Given the description of an element on the screen output the (x, y) to click on. 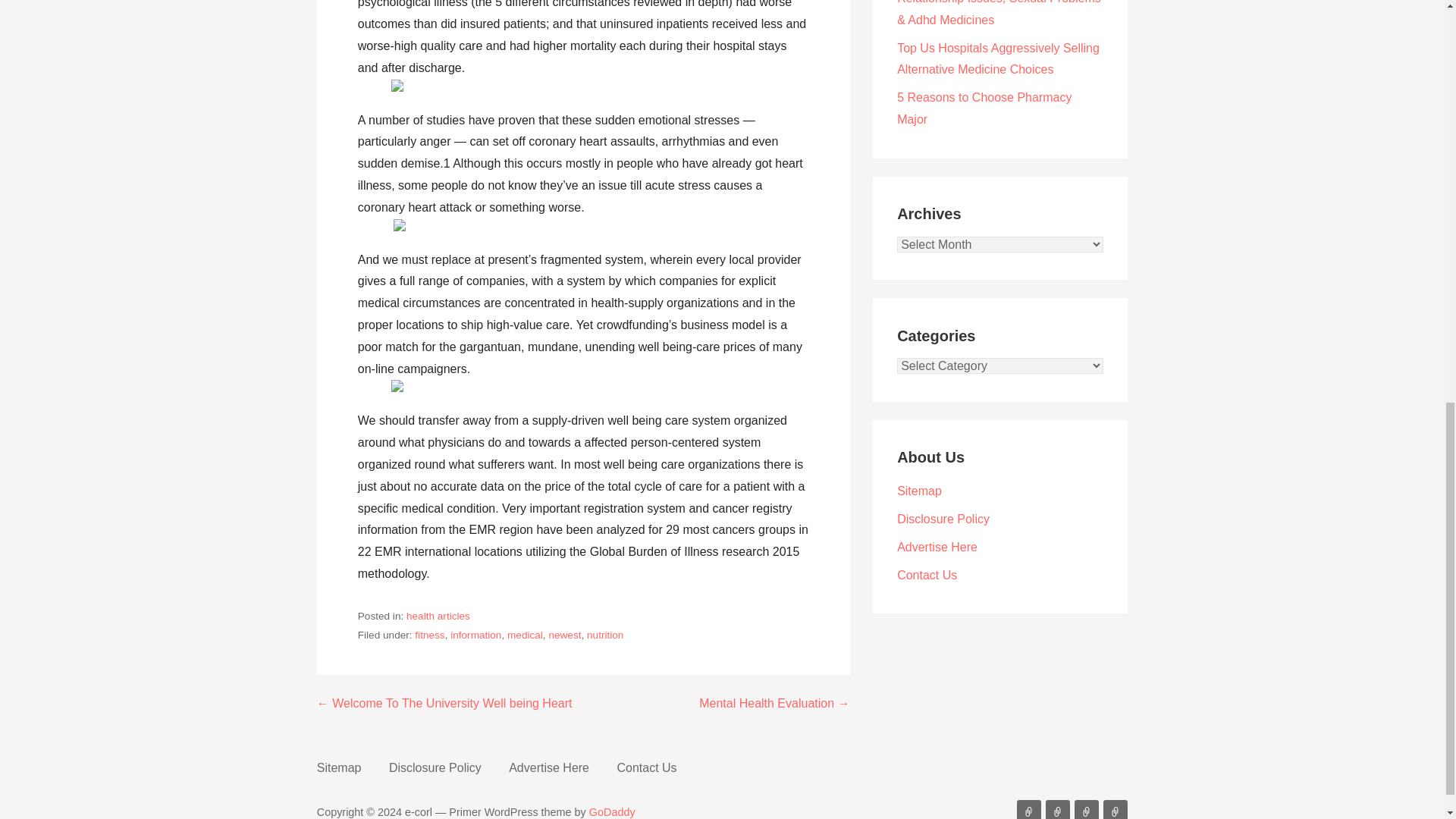
information (474, 634)
newest (564, 634)
health articles (438, 615)
medical (524, 634)
nutrition (604, 634)
fitness (429, 634)
